Given the description of an element on the screen output the (x, y) to click on. 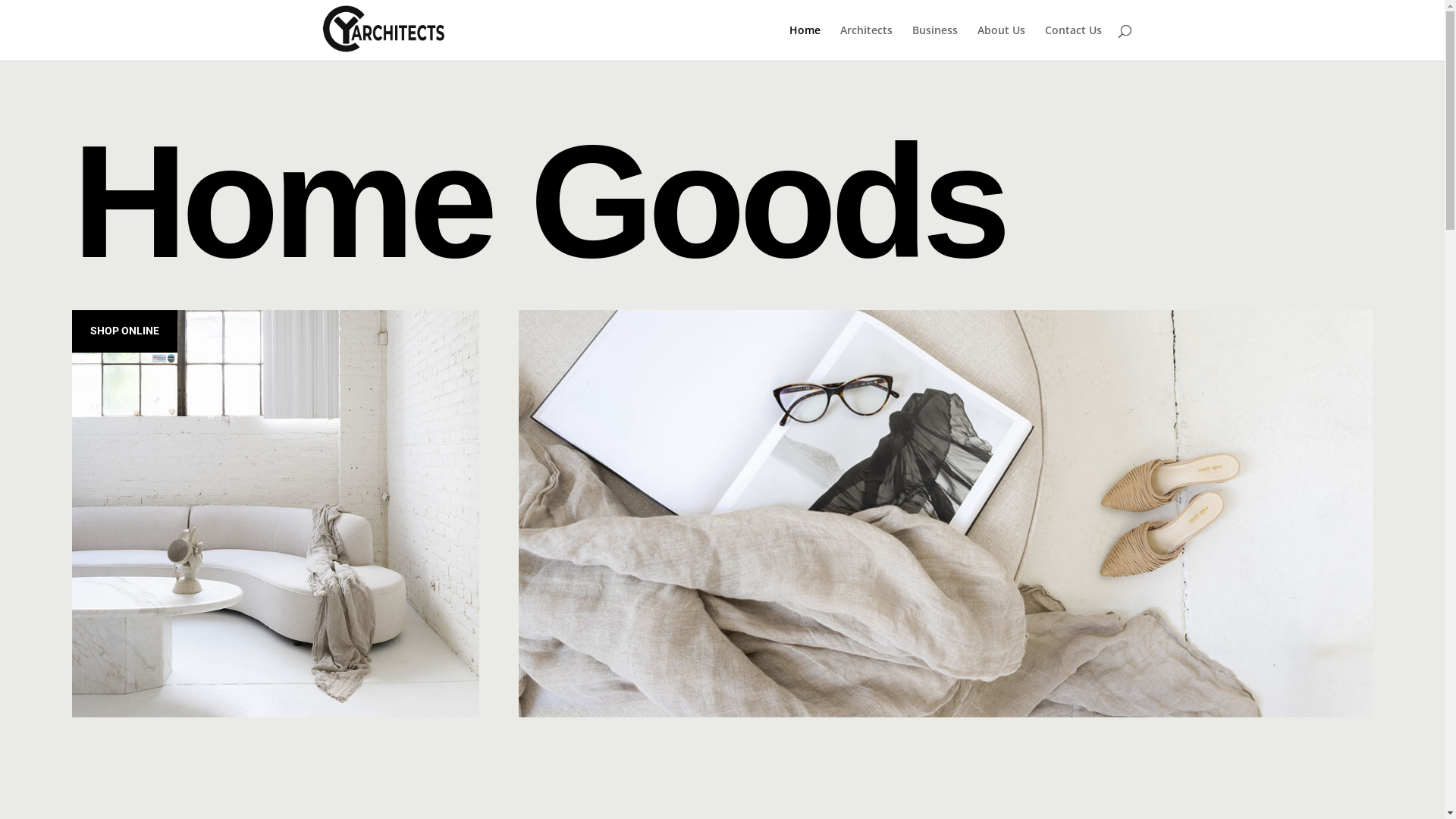
Home Element type: text (803, 42)
Contact Us Element type: text (1072, 42)
Business Element type: text (934, 42)
home-goods-8 Element type: hover (275, 513)
Architects Element type: text (866, 42)
About Us Element type: text (1000, 42)
SHOP ONLINE Element type: text (124, 331)
